Given the description of an element on the screen output the (x, y) to click on. 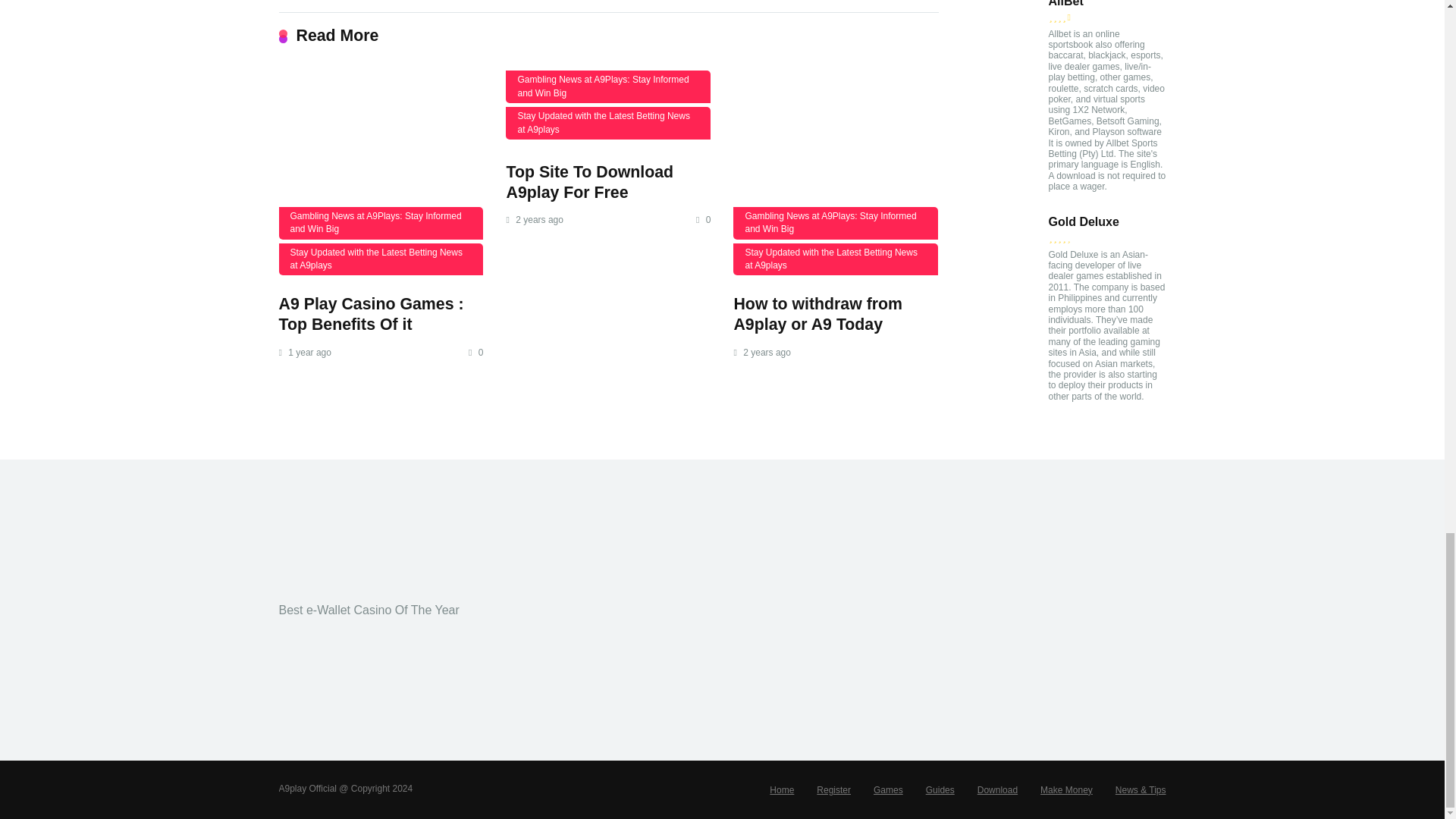
Stay Updated with the Latest Betting News at A9plays (835, 259)
Stay Updated with the Latest Betting News at A9plays (381, 259)
A9 Play Casino Games : Top Benefits Of it (371, 313)
Gambling News at A9Plays: Stay Informed and Win Big (607, 86)
How to withdraw from A9play or A9 Today (817, 313)
A9 Play Casino Games : Top Benefits Of it (371, 313)
Gambling News at A9Plays: Stay Informed and Win Big (835, 223)
How to withdraw from A9play or A9 Today (817, 313)
Top Site To Download A9play For Free (588, 181)
Gambling News at A9Plays: Stay Informed and Win Big (381, 223)
Stay Updated with the Latest Betting News at A9plays (607, 123)
A9 Play Casino Games : Top Benefits Of it (381, 172)
How to withdraw from A9play or A9 Today (835, 172)
Top Site To Download A9play For Free (588, 181)
